Given the description of an element on the screen output the (x, y) to click on. 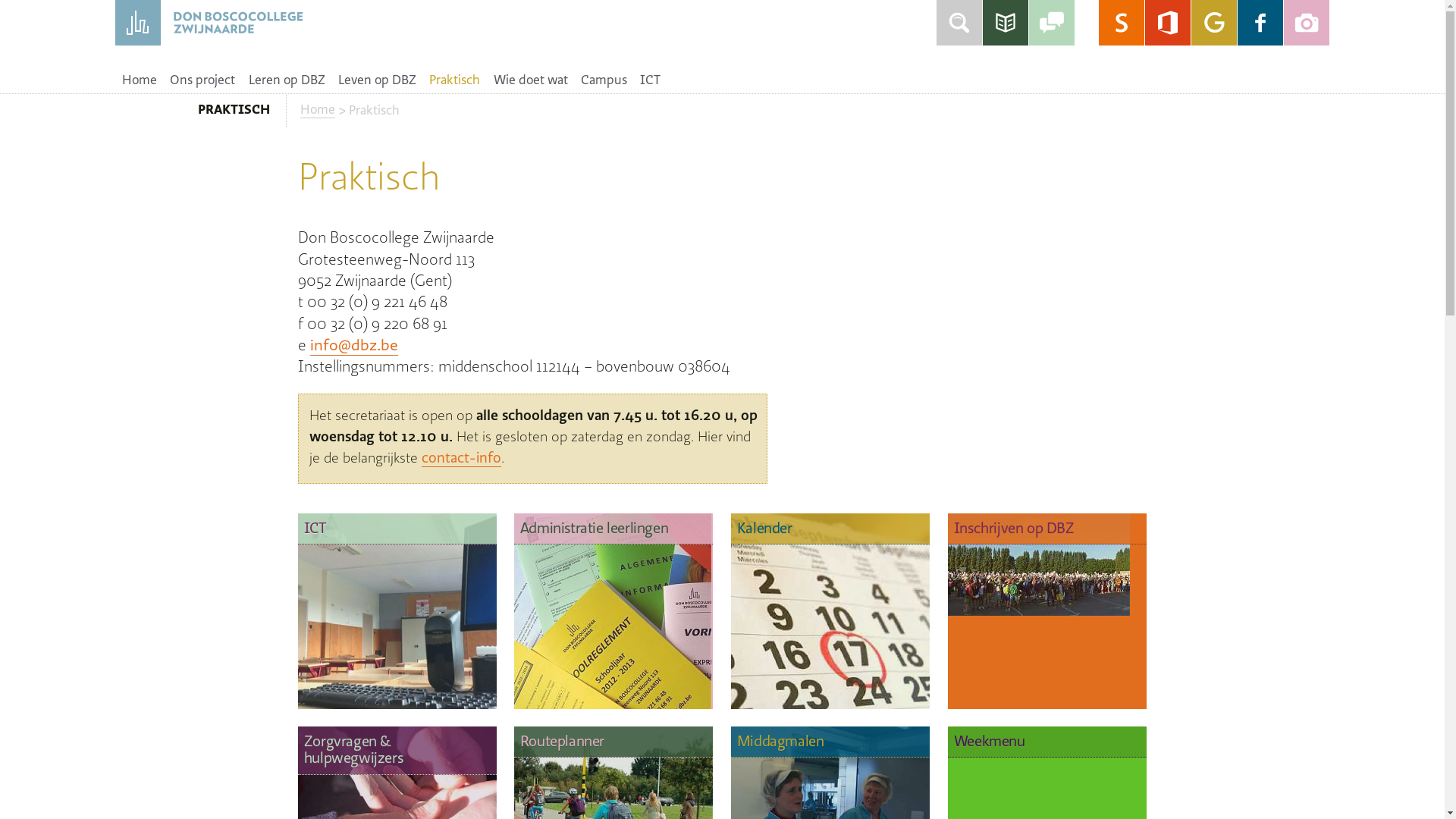
Leven op DBZ Element type: text (376, 79)
Praktisch Element type: text (454, 79)
Home Element type: text (317, 109)
Leren op DBZ Element type: text (286, 79)
Wie doet wat Element type: text (530, 79)
contact-info Element type: text (461, 457)
info@dbz.be Element type: text (353, 344)
ICT Element type: text (650, 79)
Ons project Element type: text (202, 79)
Campus Element type: text (603, 79)
Home Element type: text (139, 79)
ICT Element type: text (396, 611)
Inschrijven op DBZ Element type: text (1046, 611)
Kalender Element type: text (830, 611)
Administratie leerlingen Element type: text (613, 611)
